Given the description of an element on the screen output the (x, y) to click on. 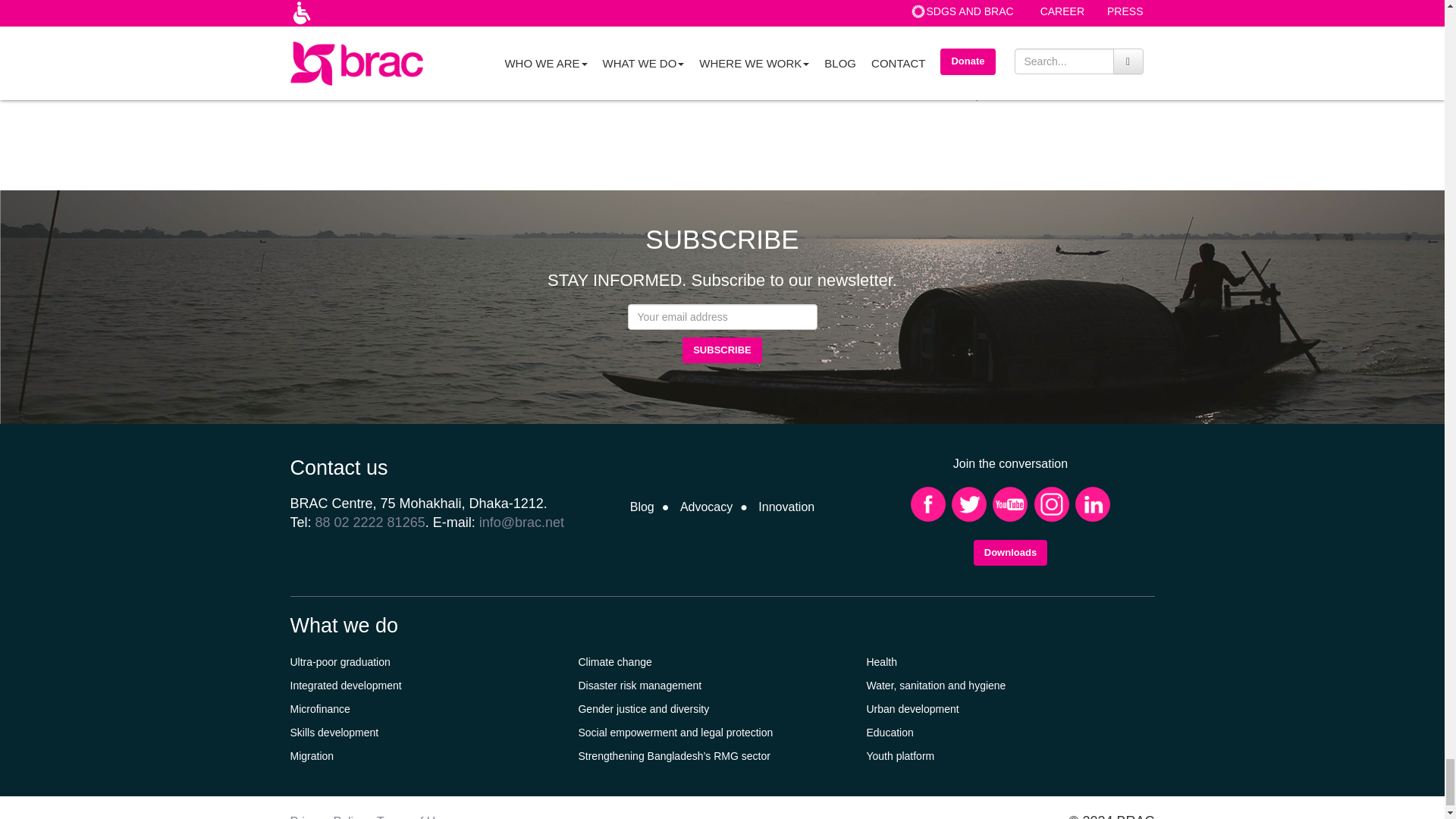
Subscribe (721, 350)
